Given the description of an element on the screen output the (x, y) to click on. 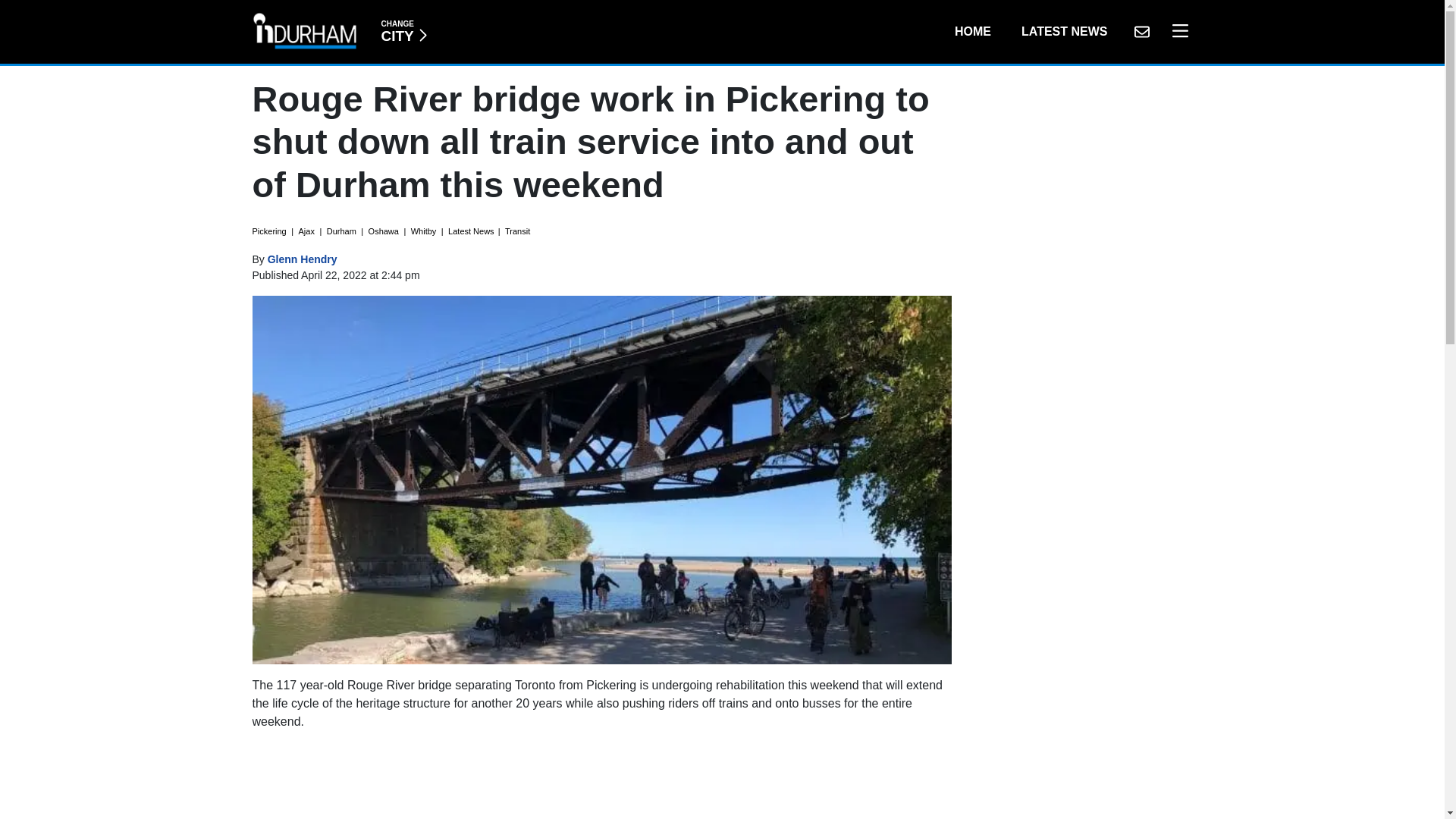
LATEST NEWS (1064, 31)
3rd party ad content (601, 780)
HOME (972, 31)
OPEN MENU (1176, 31)
Posts by 946 (402, 31)
SIGN UP FOR OUR NEWSLETTER (302, 259)
